Given the description of an element on the screen output the (x, y) to click on. 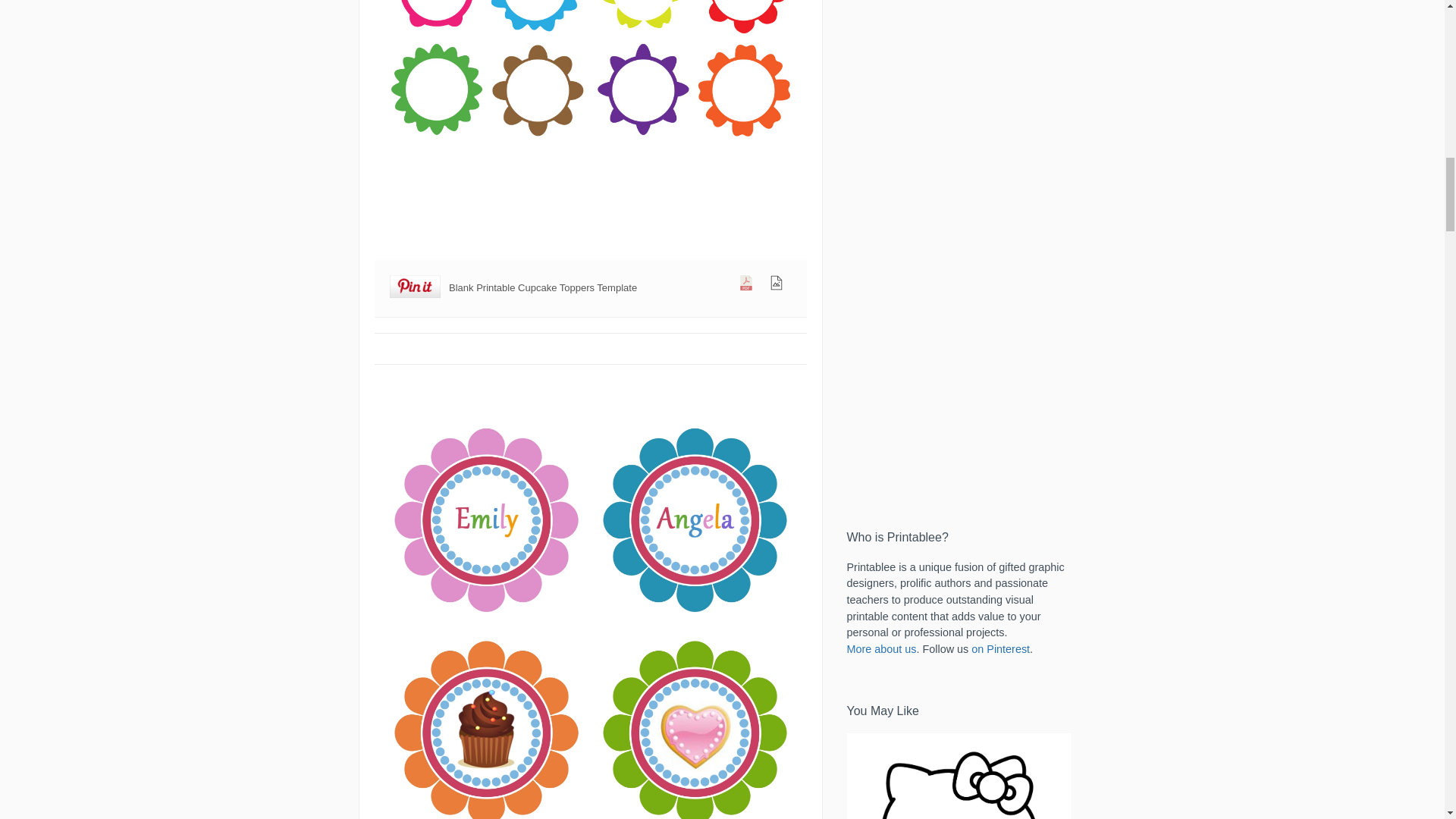
Blank Printable Cupcake Toppers Template (590, 128)
Pin it! (415, 287)
